Given the description of an element on the screen output the (x, y) to click on. 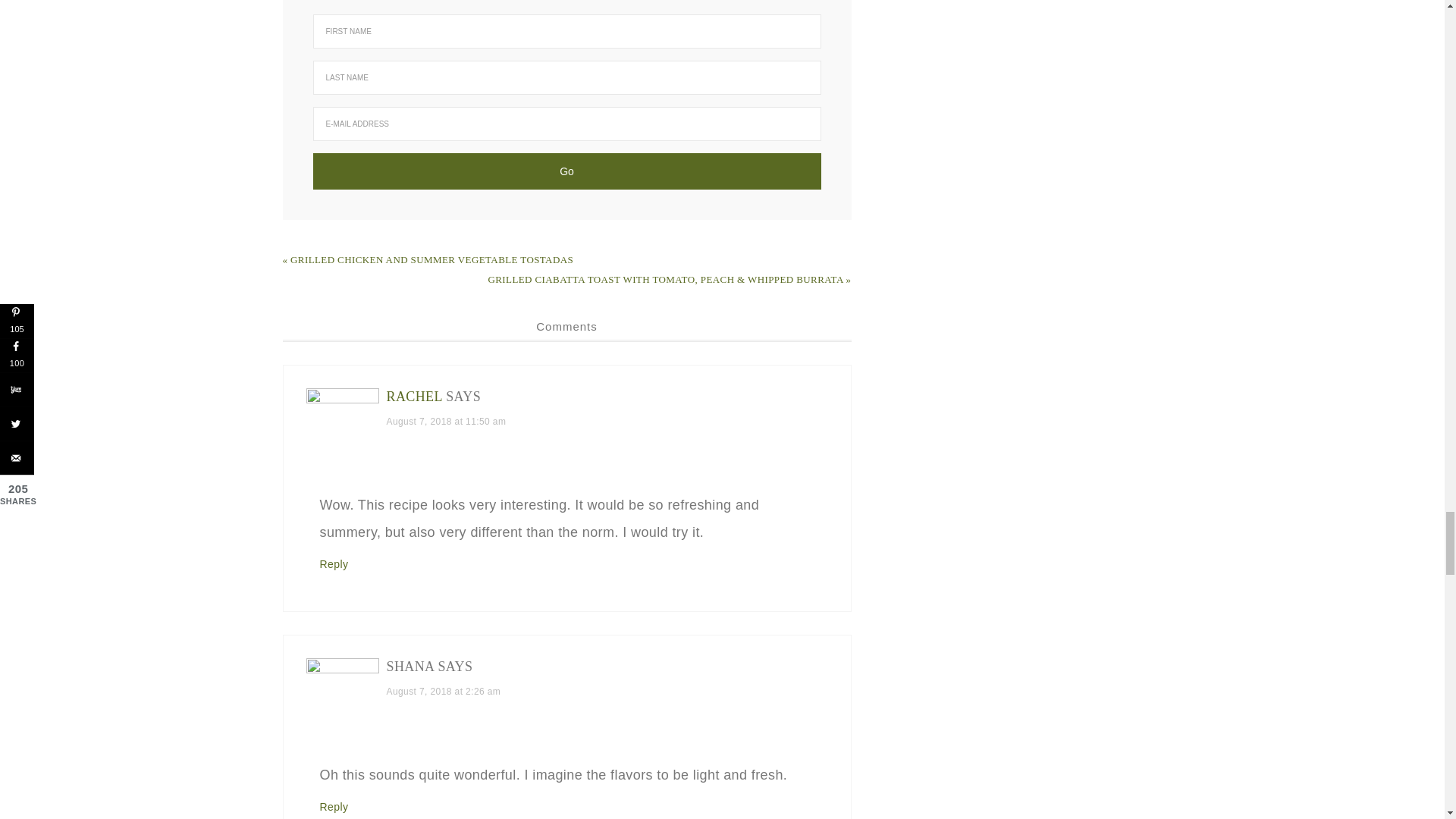
Go (567, 171)
